Given the description of an element on the screen output the (x, y) to click on. 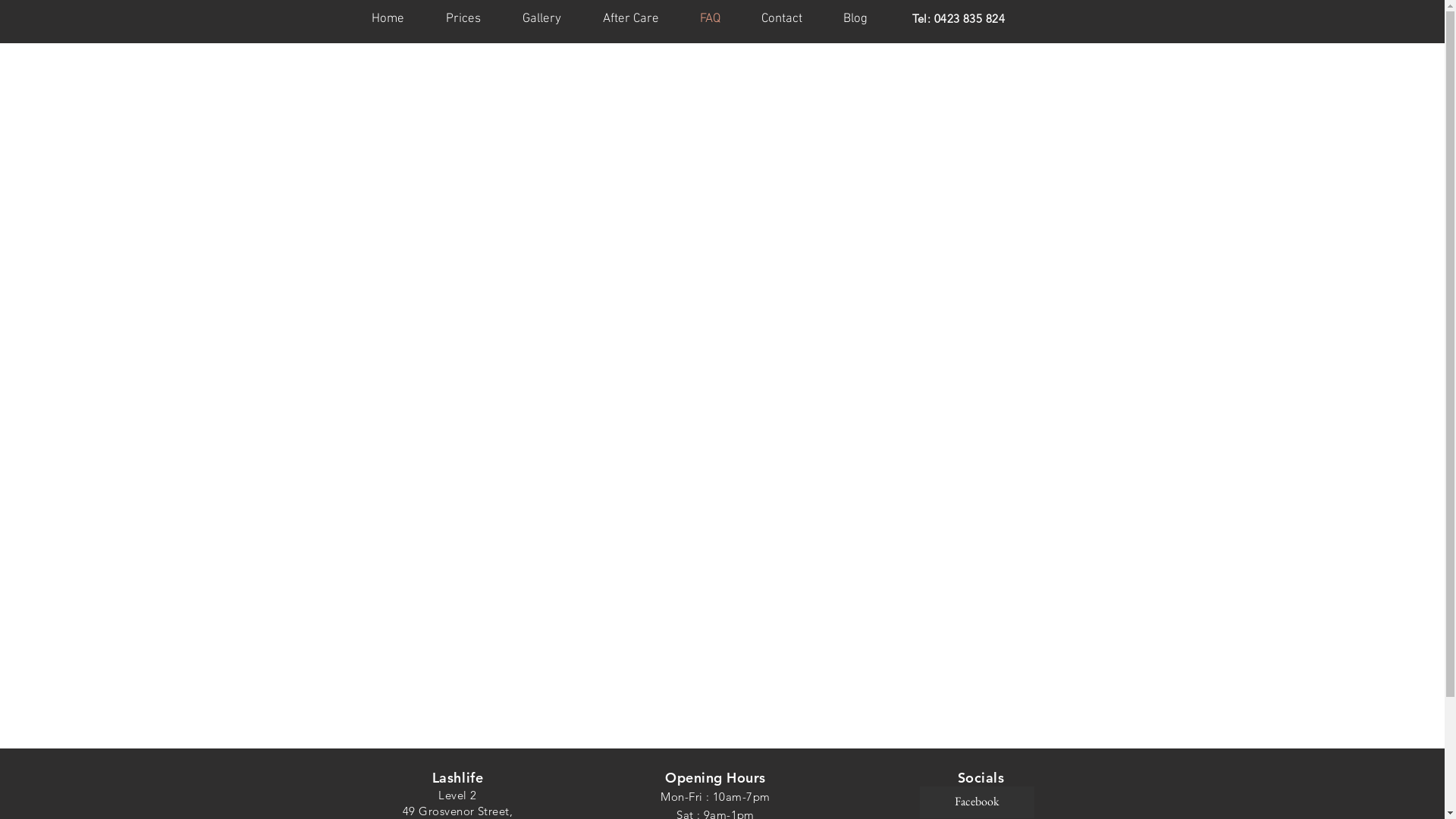
Wix FAQ Element type: hover (721, 379)
After Care Element type: text (630, 18)
FAQ Element type: text (709, 18)
Contact Element type: text (781, 18)
Home Element type: text (387, 18)
Gallery Element type: text (542, 18)
Prices Element type: text (462, 18)
Facebook Element type: text (976, 801)
Blog Element type: text (854, 18)
